Given the description of an element on the screen output the (x, y) to click on. 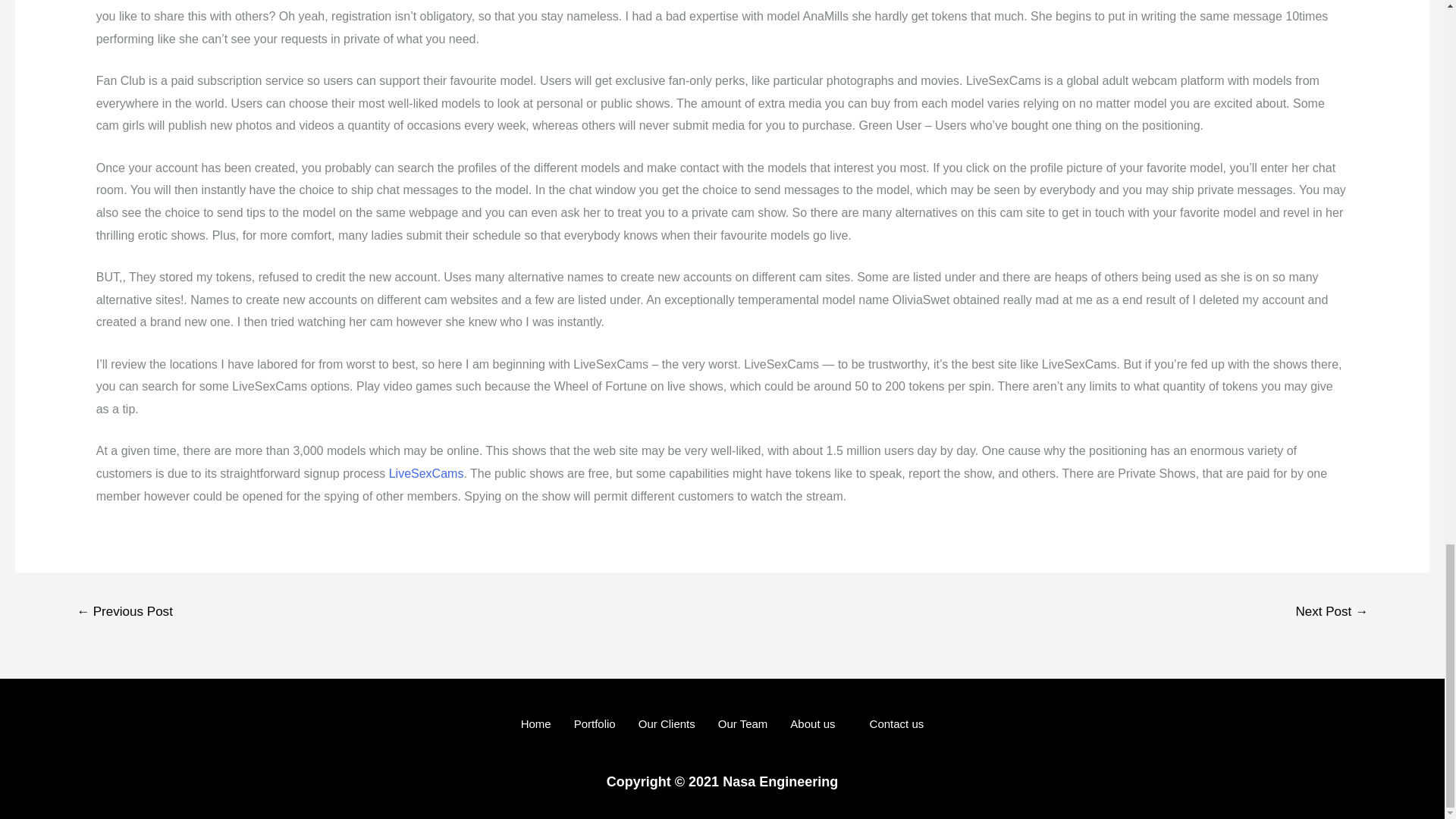
Our Clients (666, 723)
Contact us (897, 723)
Our Team (742, 723)
About us (817, 723)
LiveSexCams (426, 472)
Portfolio (594, 723)
